Given the description of an element on the screen output the (x, y) to click on. 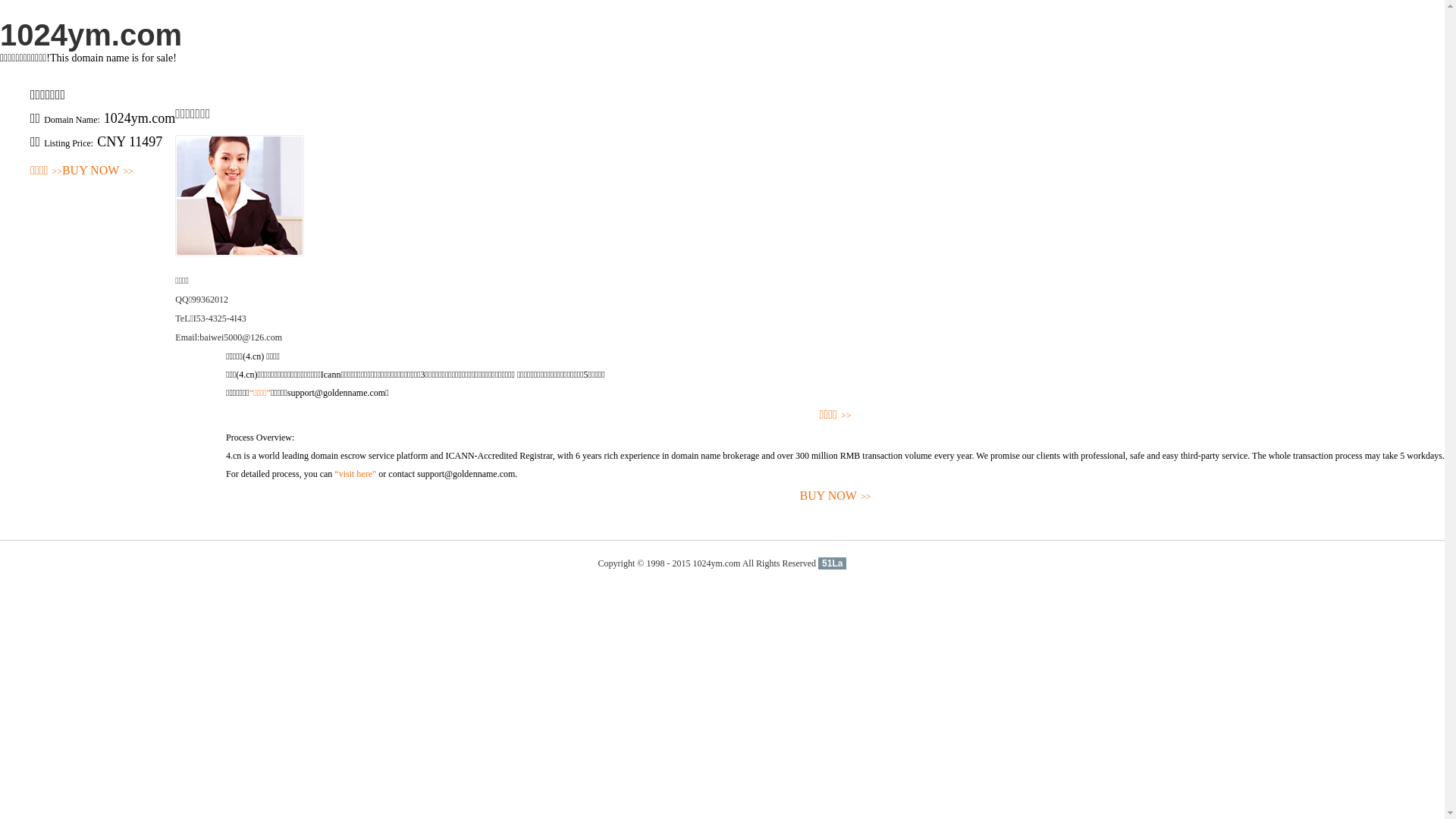
BUY NOW>> Element type: text (834, 496)
BUY NOW>> Element type: text (97, 170)
51La Element type: text (832, 563)
